Given the description of an element on the screen output the (x, y) to click on. 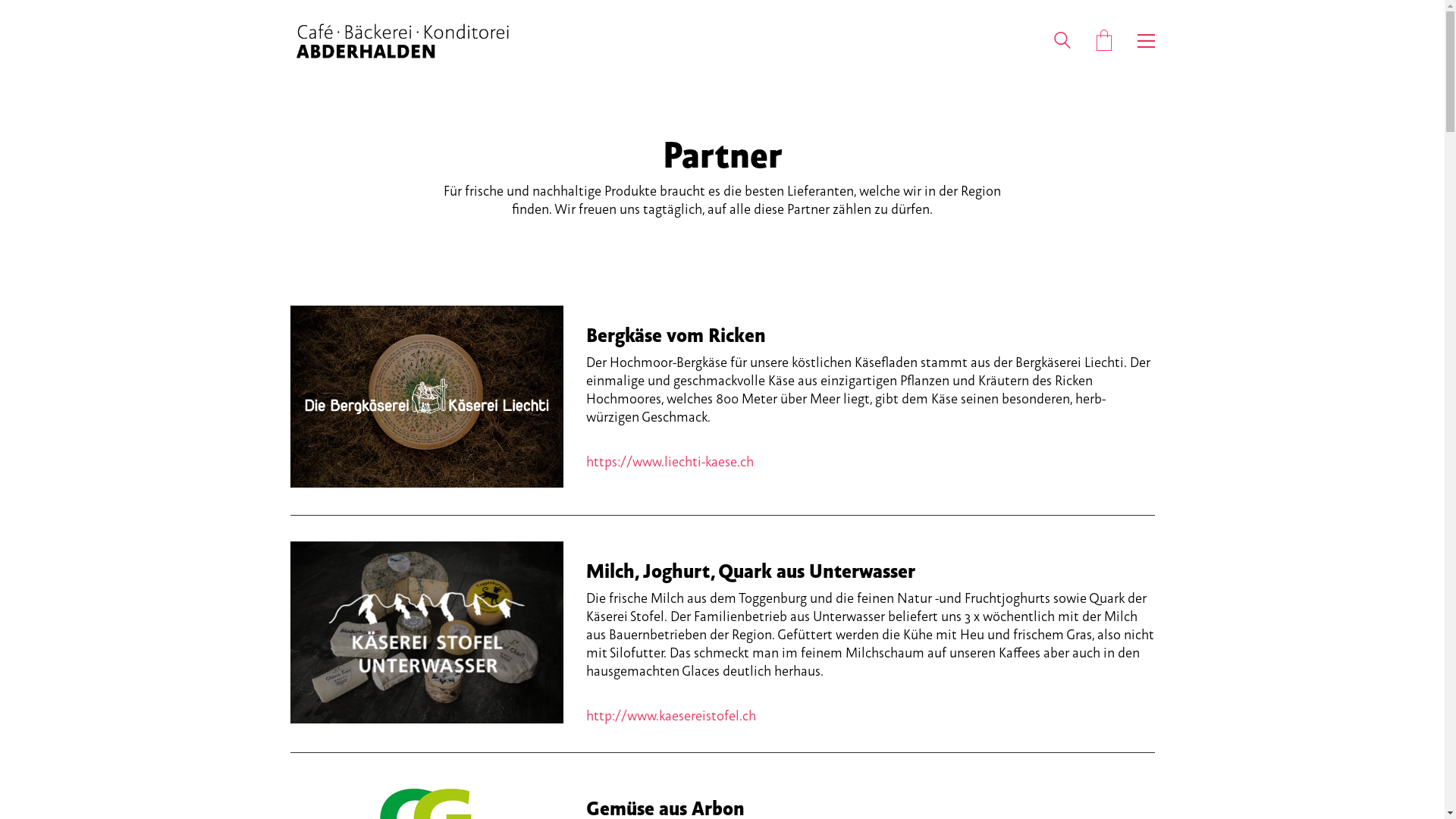
Kaeserei_Stofel-mit-logo Element type: hover (425, 632)
https://www.liechti-kaese.ch Element type: text (669, 461)
http://www.kaesereistofel.ch Element type: text (670, 715)
